Given the description of an element on the screen output the (x, y) to click on. 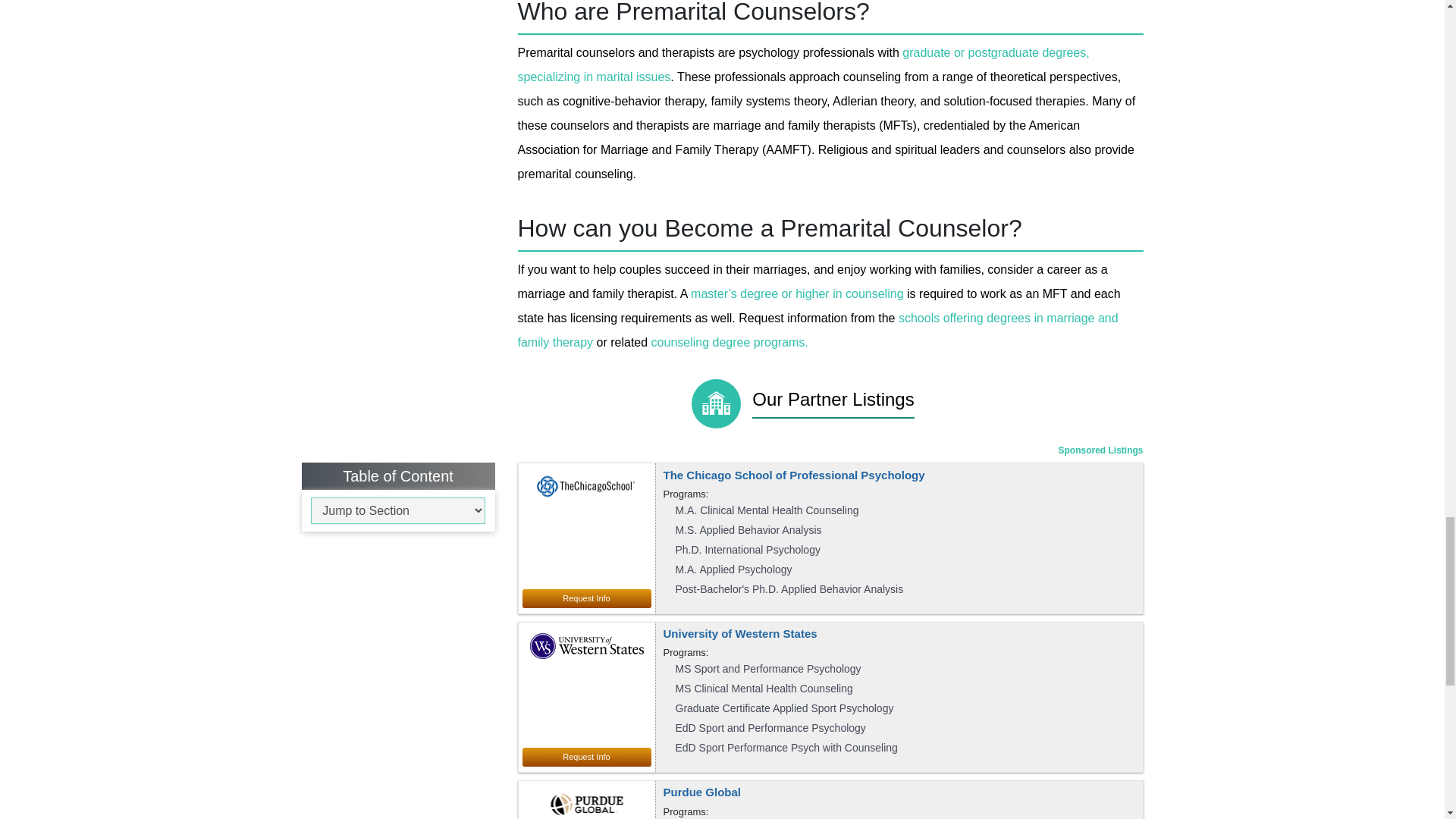
Sponsored Listings (1100, 450)
counseling degree programs. (729, 341)
schools offering degrees in marriage and family therapy (817, 330)
